Given the description of an element on the screen output the (x, y) to click on. 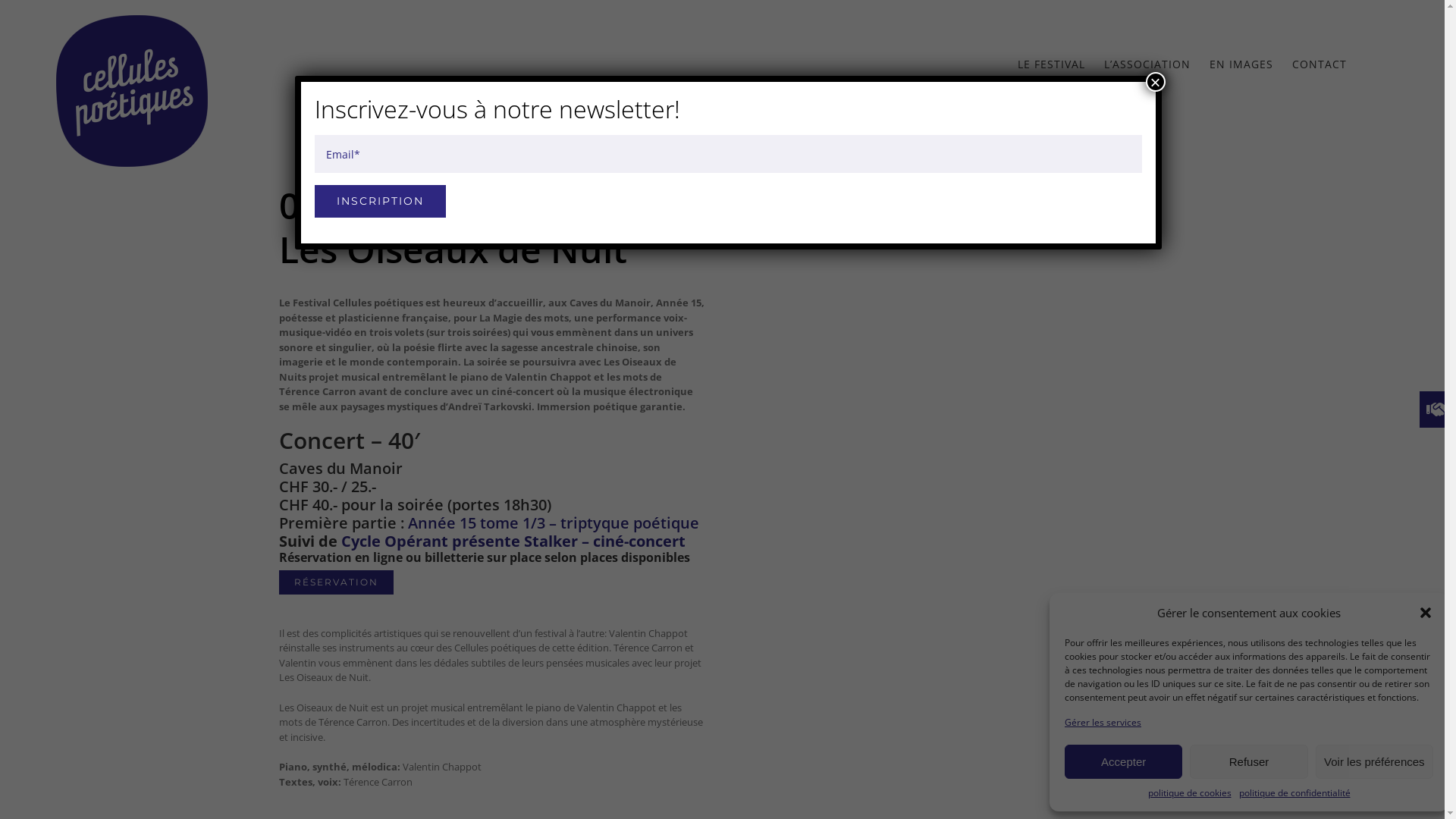
LE FESTIVAL Element type: text (1051, 64)
EN IMAGES Element type: text (1241, 64)
inscription Element type: text (379, 201)
politique de cookies Element type: text (1189, 793)
Accepter Element type: text (1123, 761)
CONTACT Element type: text (1319, 64)
Refuser Element type: text (1248, 761)
YouTube video player 1 Element type: hover (953, 423)
